Given the description of an element on the screen output the (x, y) to click on. 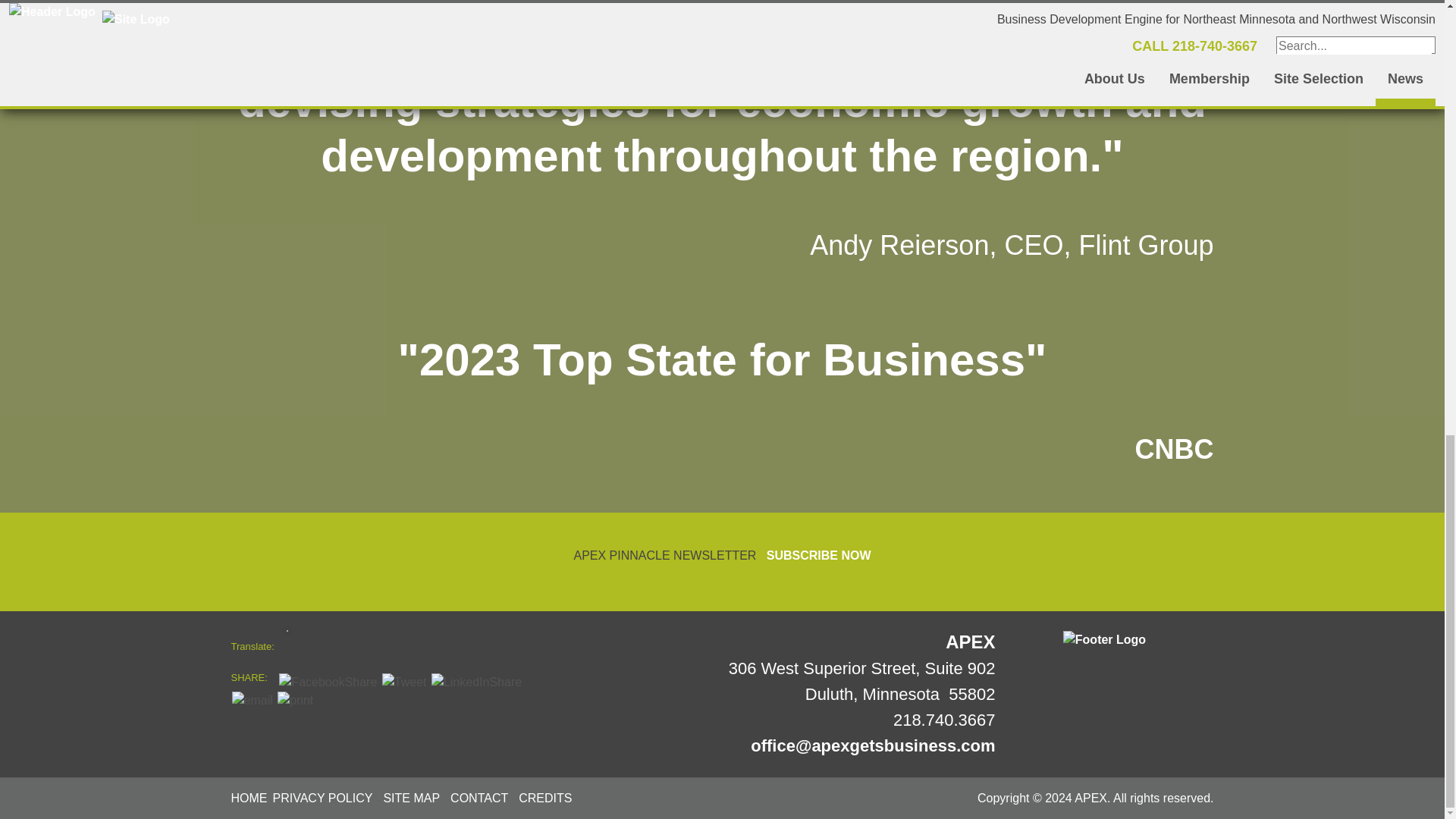
LinkedInShare (475, 682)
print (295, 700)
HOME (248, 797)
email (252, 700)
FacebookShare (328, 682)
SUBSCRIBE NOW (818, 554)
CONTACT (478, 797)
PRIVACY POLICY (322, 797)
Tweet (403, 682)
SITE MAP (410, 797)
